Given the description of an element on the screen output the (x, y) to click on. 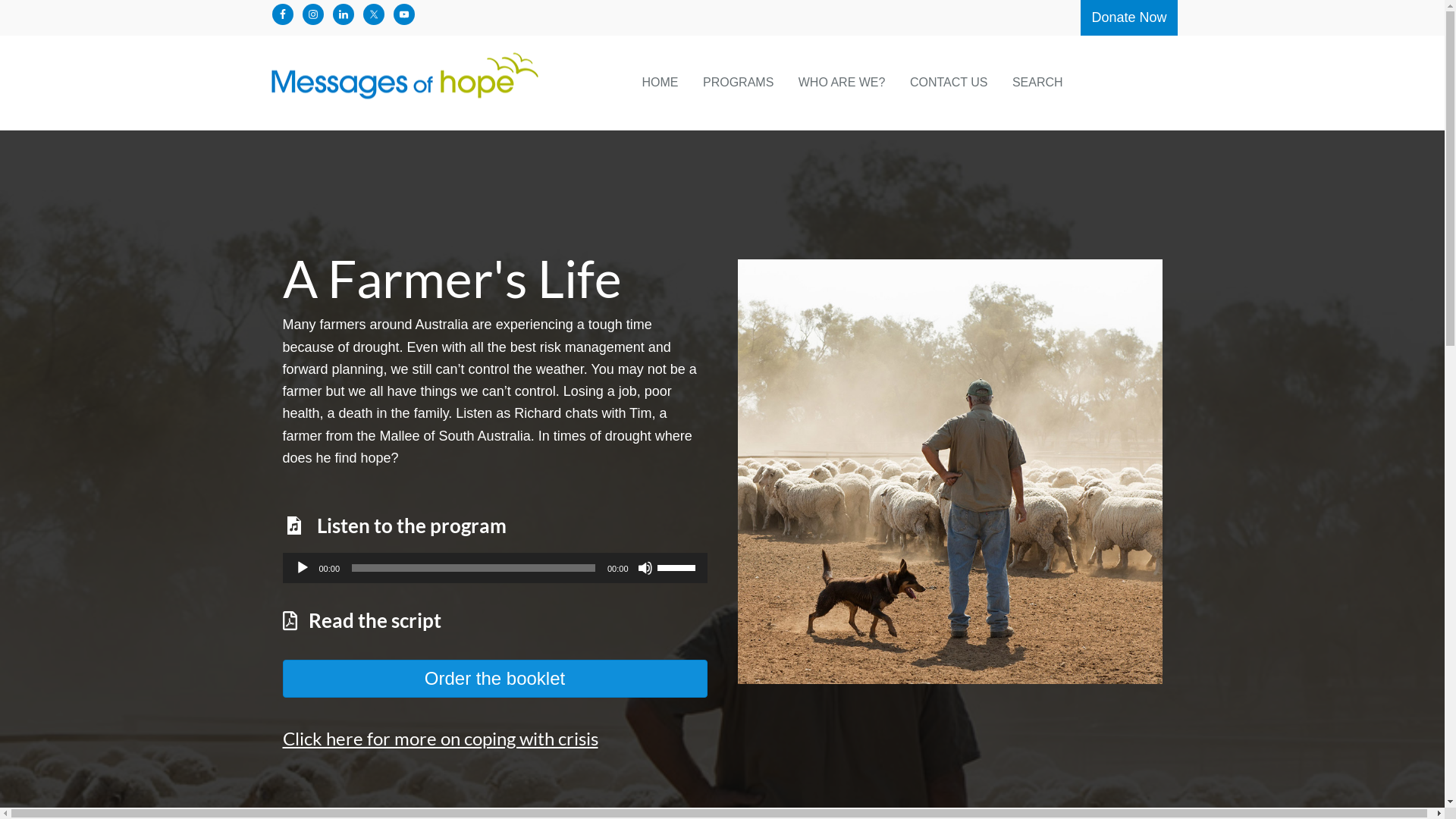
PROGRAMS Element type: text (738, 82)
Mute Element type: hover (644, 567)
Use Up/Down Arrow keys to increase or decrease volume. Element type: text (677, 566)
Skip to primary navigation Element type: text (0, 0)
WHO ARE WE? Element type: text (841, 82)
Donate Now Element type: text (1128, 17)
Click here for more on coping with crisis Element type: text (439, 738)
Play Element type: hover (301, 567)
CONTACT US Element type: text (948, 82)
SEARCH Element type: text (1037, 82)
Order the booklet Element type: text (494, 678)
Read the script Element type: text (373, 620)
Messages of hope Element type: text (448, 82)
HOME Element type: text (659, 82)
farmers-life Element type: hover (949, 471)
